Given the description of an element on the screen output the (x, y) to click on. 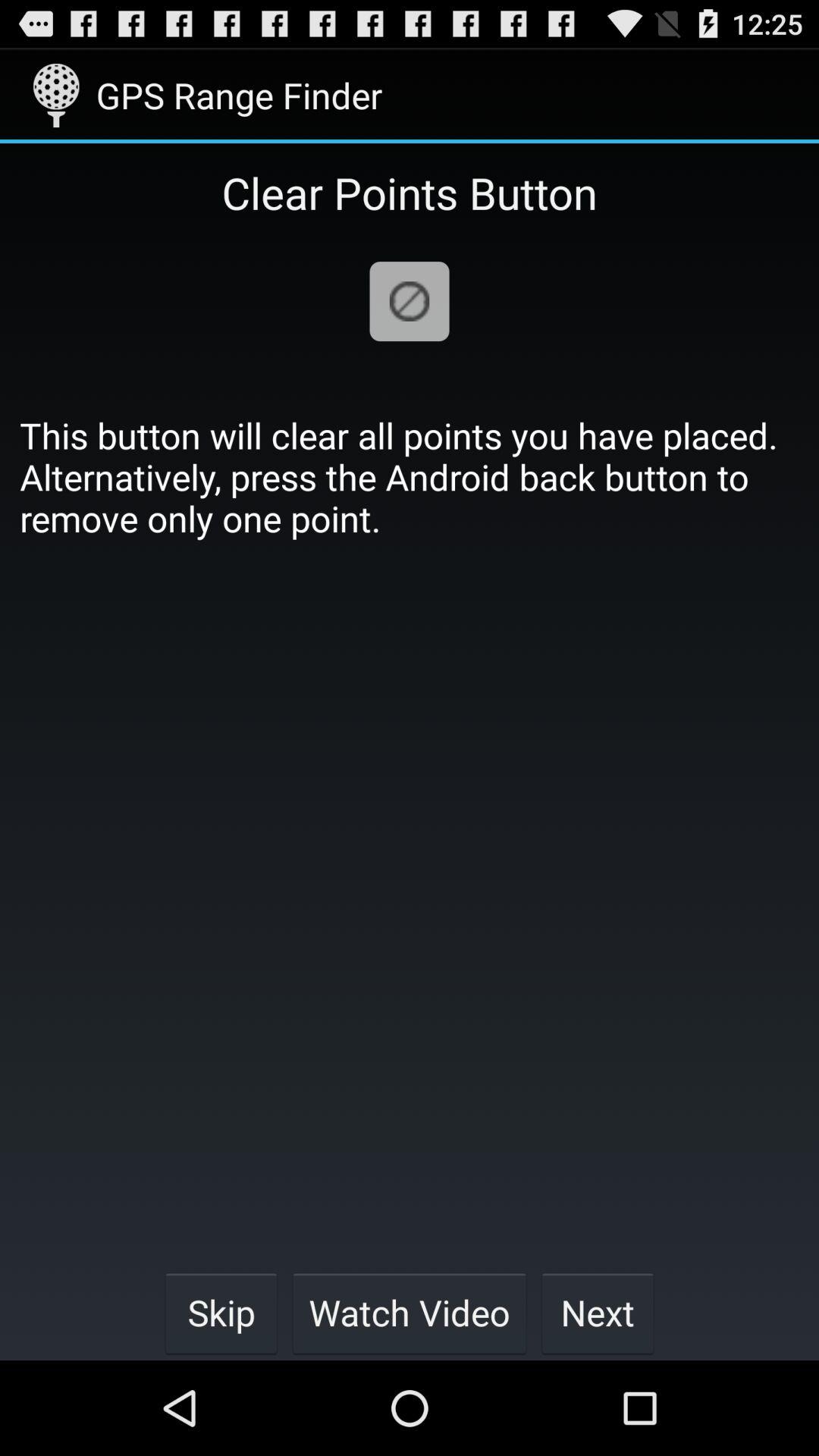
click item to the right of the skip button (409, 1312)
